Given the description of an element on the screen output the (x, y) to click on. 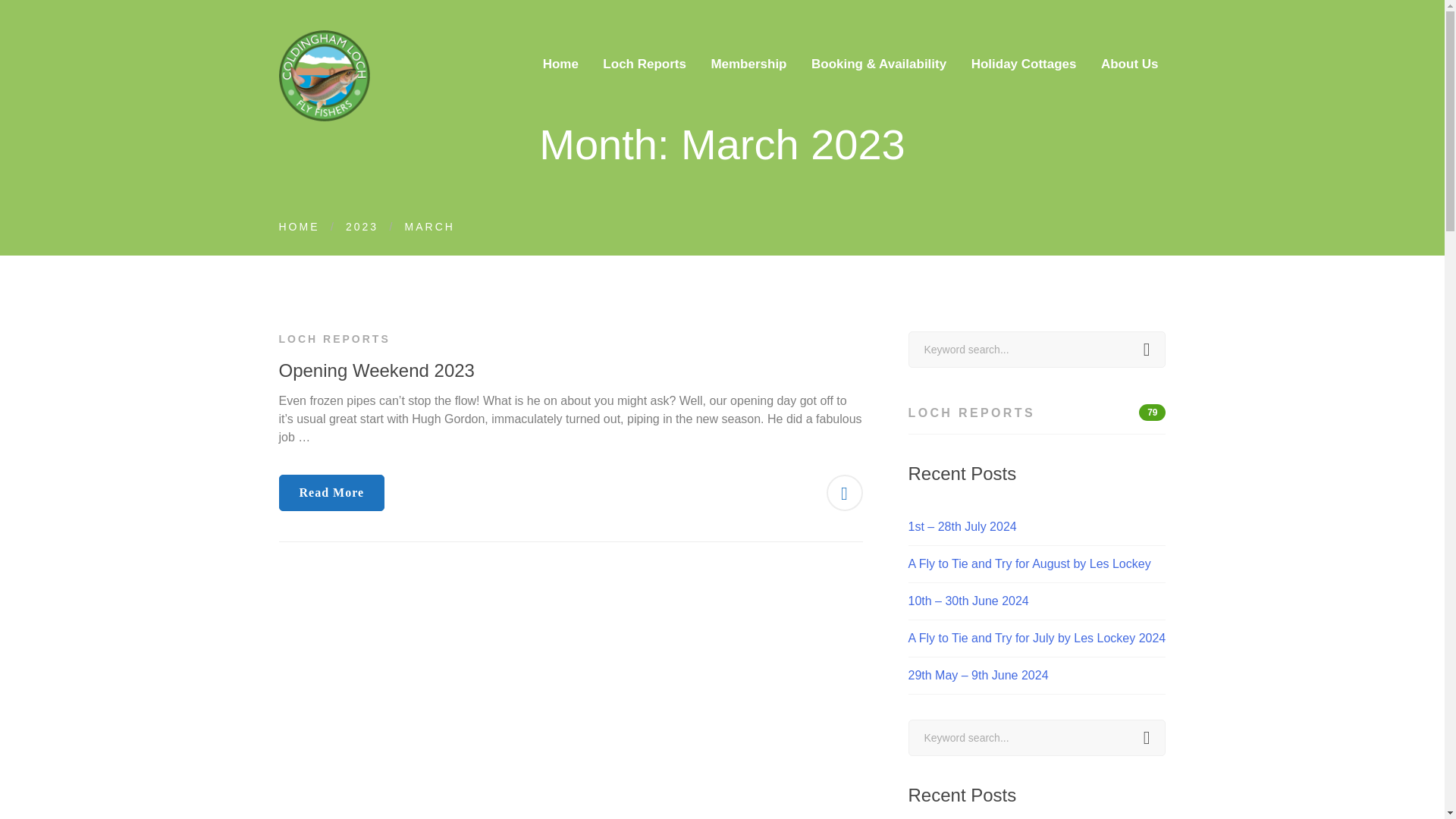
Membership (748, 60)
About Us (1129, 60)
Loch Reports (644, 60)
HOME (299, 226)
A Fly to Tie and Try for July by Les Lockey 2024 (1037, 638)
LOCH REPORTS (334, 338)
Read More (332, 493)
Opening Weekend 2023 (376, 370)
2023 (1037, 413)
Search for: (362, 226)
Home (1037, 737)
A Fly to Tie and Try for August by Les Lockey (560, 60)
Holiday Cottages (1037, 564)
Opening Weekend 2023 (1023, 60)
